Given the description of an element on the screen output the (x, y) to click on. 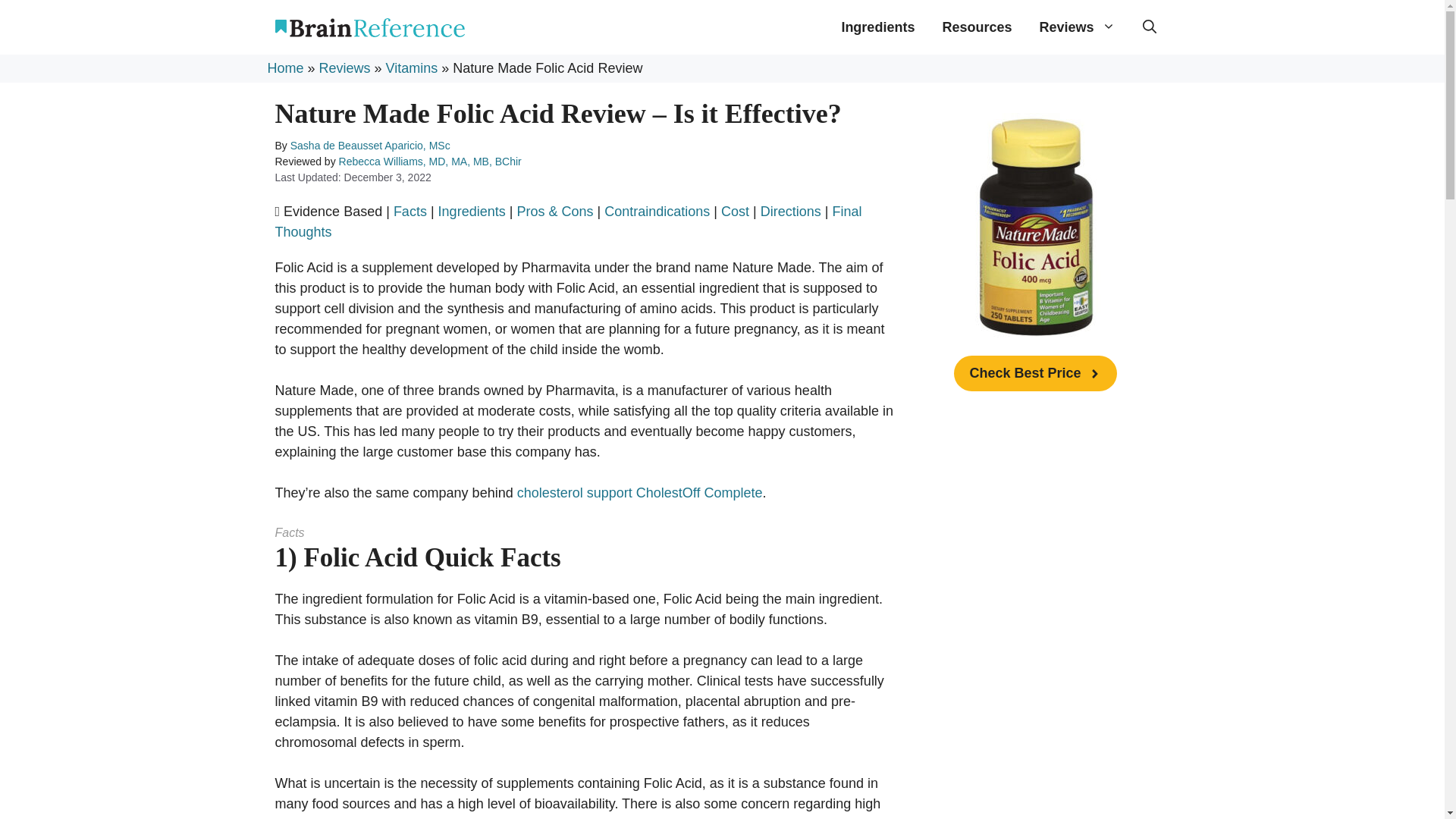
Cost (734, 211)
Reviews (1076, 26)
Final Thoughts (568, 221)
cholesterol support CholestOff Complete (639, 492)
Reviews (344, 68)
Contraindications (657, 211)
Facts (409, 211)
Rebecca Williams, MD, MA, MB, BChir (430, 161)
Ingredients (471, 211)
Home (284, 68)
